Given the description of an element on the screen output the (x, y) to click on. 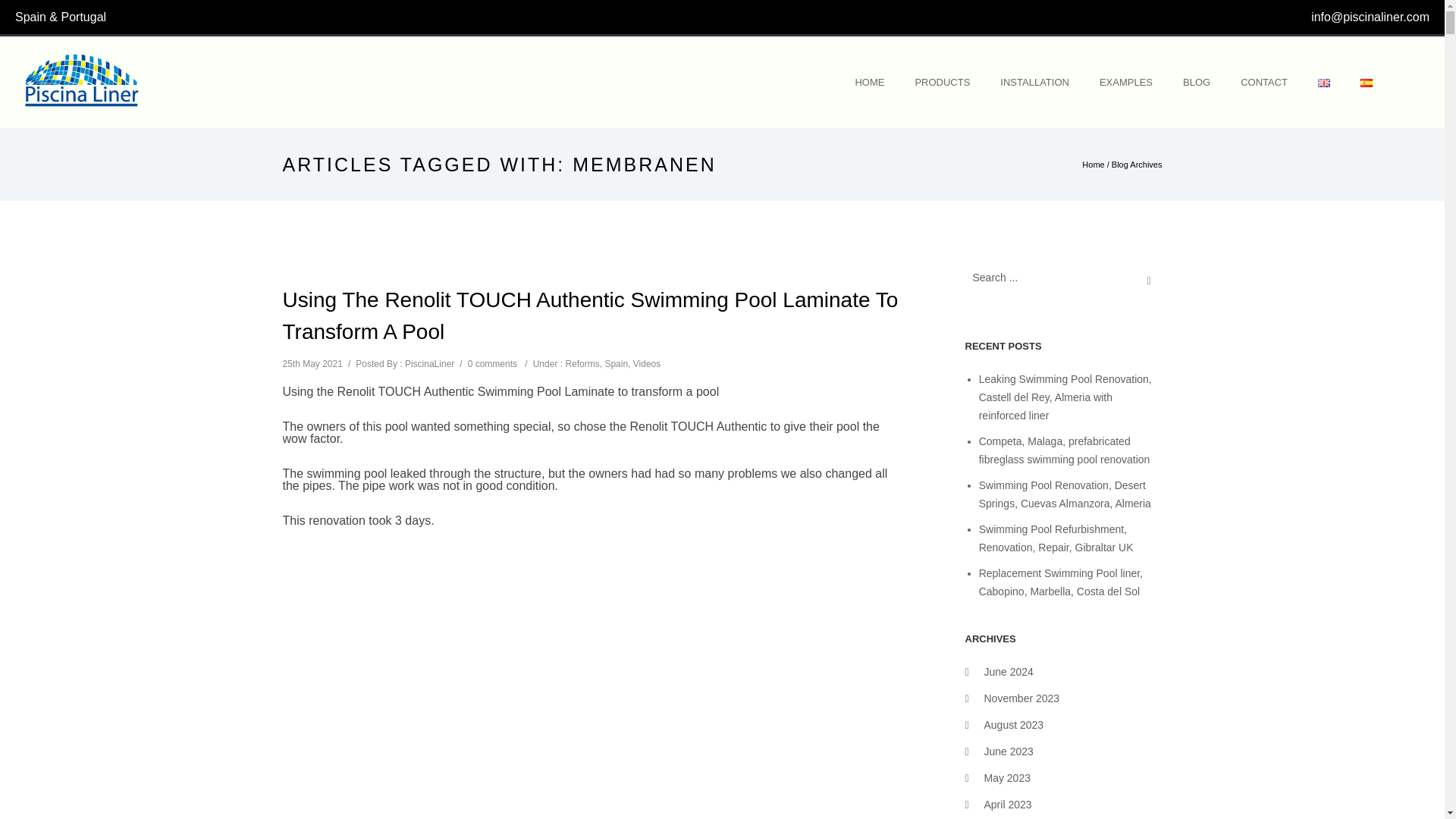
Home (869, 81)
Contact (1264, 81)
Installation (1034, 81)
0 comments (491, 363)
PRODUCTS (942, 81)
Videos (647, 363)
BLOG (1196, 81)
Spain (615, 363)
Home (1092, 163)
Blog (1196, 81)
CONTACT (1264, 81)
EXAMPLES (1125, 81)
HOME (869, 81)
INSTALLATION (1034, 81)
Examples (1125, 81)
